Given the description of an element on the screen output the (x, y) to click on. 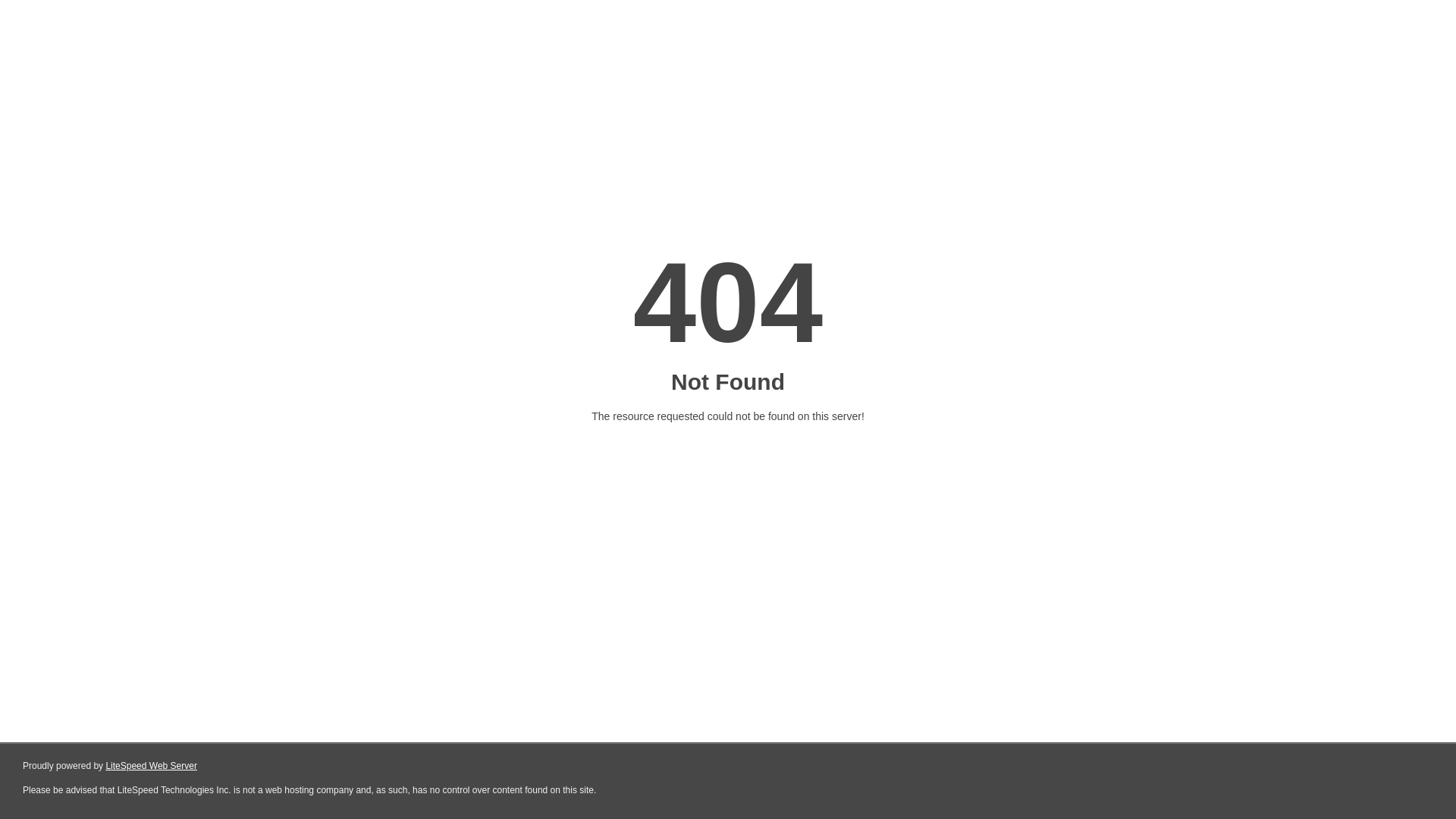
LiteSpeed Web Server Element type: text (151, 765)
